Given the description of an element on the screen output the (x, y) to click on. 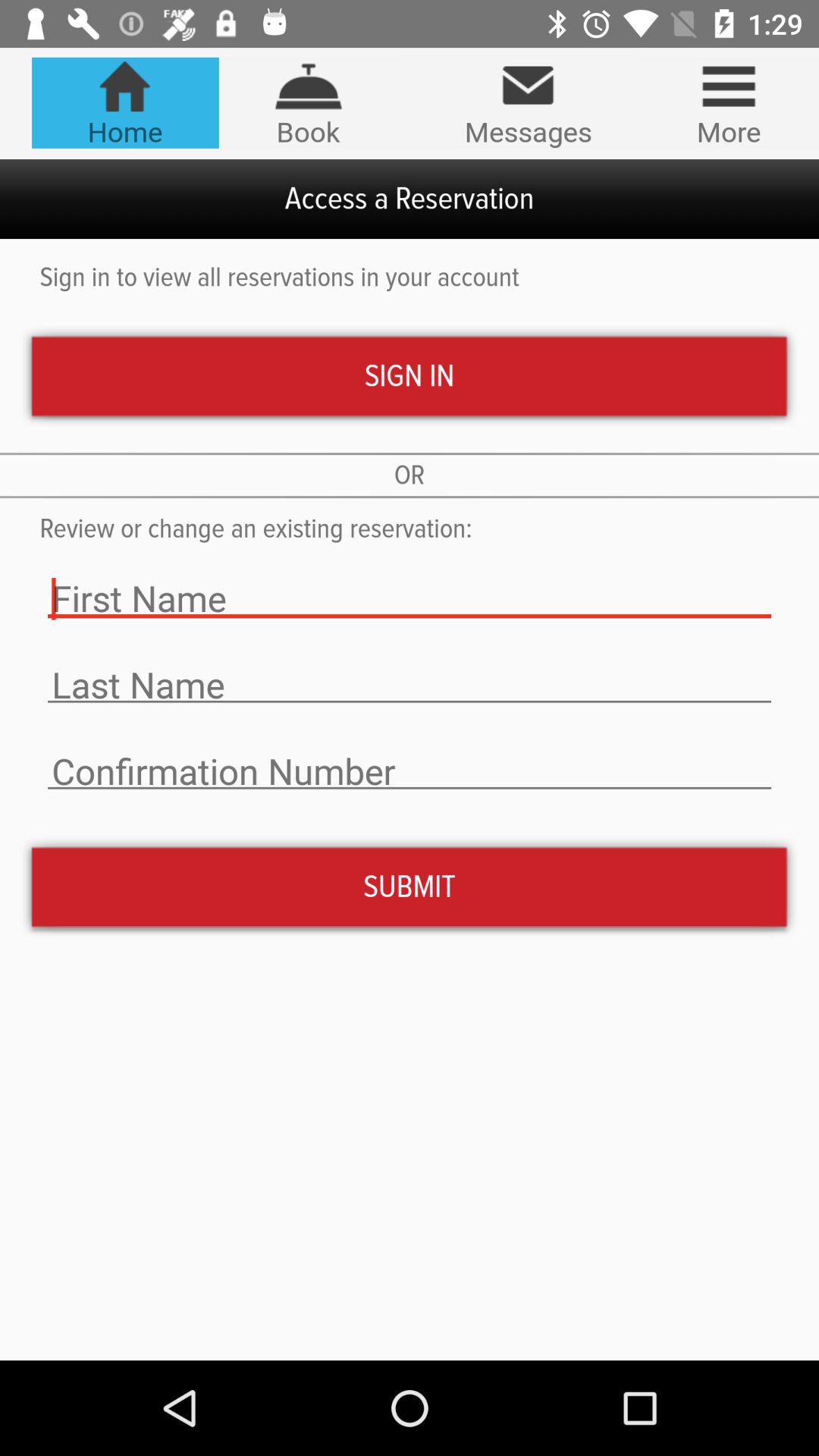
turn on icon next to the book icon (528, 103)
